Given the description of an element on the screen output the (x, y) to click on. 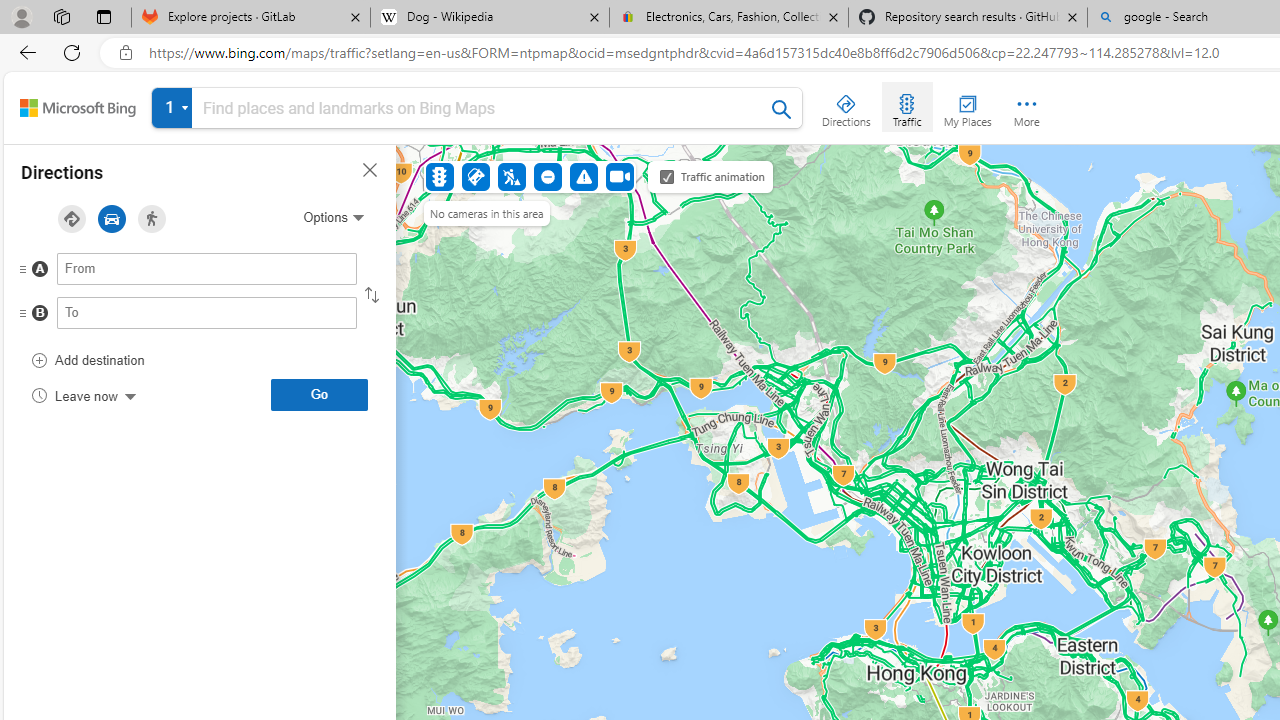
My Places (967, 106)
View site information (125, 53)
Construction (511, 176)
Leave now (83, 394)
Miscellaneous incidents (583, 176)
Walking (152, 219)
Dog - Wikipedia (490, 17)
Directions (846, 106)
Add a search (482, 107)
B (167, 318)
Accidents (476, 176)
From (207, 268)
More (1026, 106)
Close tab (1072, 16)
